Given the description of an element on the screen output the (x, y) to click on. 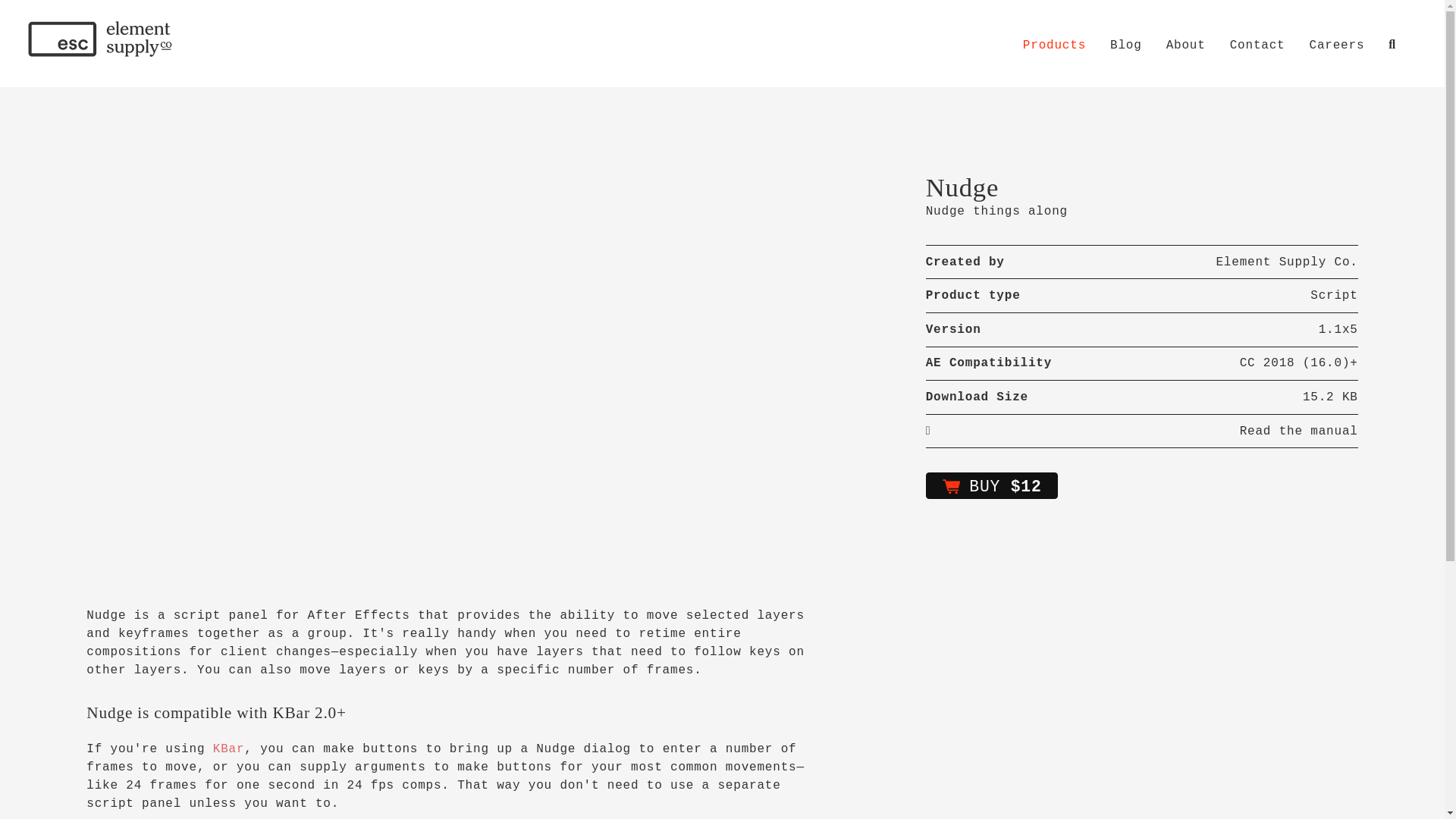
Careers (1336, 45)
Contact (1257, 45)
Read the manual (928, 431)
KBar (228, 748)
Products (1054, 45)
About (1185, 45)
Blog (1125, 45)
